Given the description of an element on the screen output the (x, y) to click on. 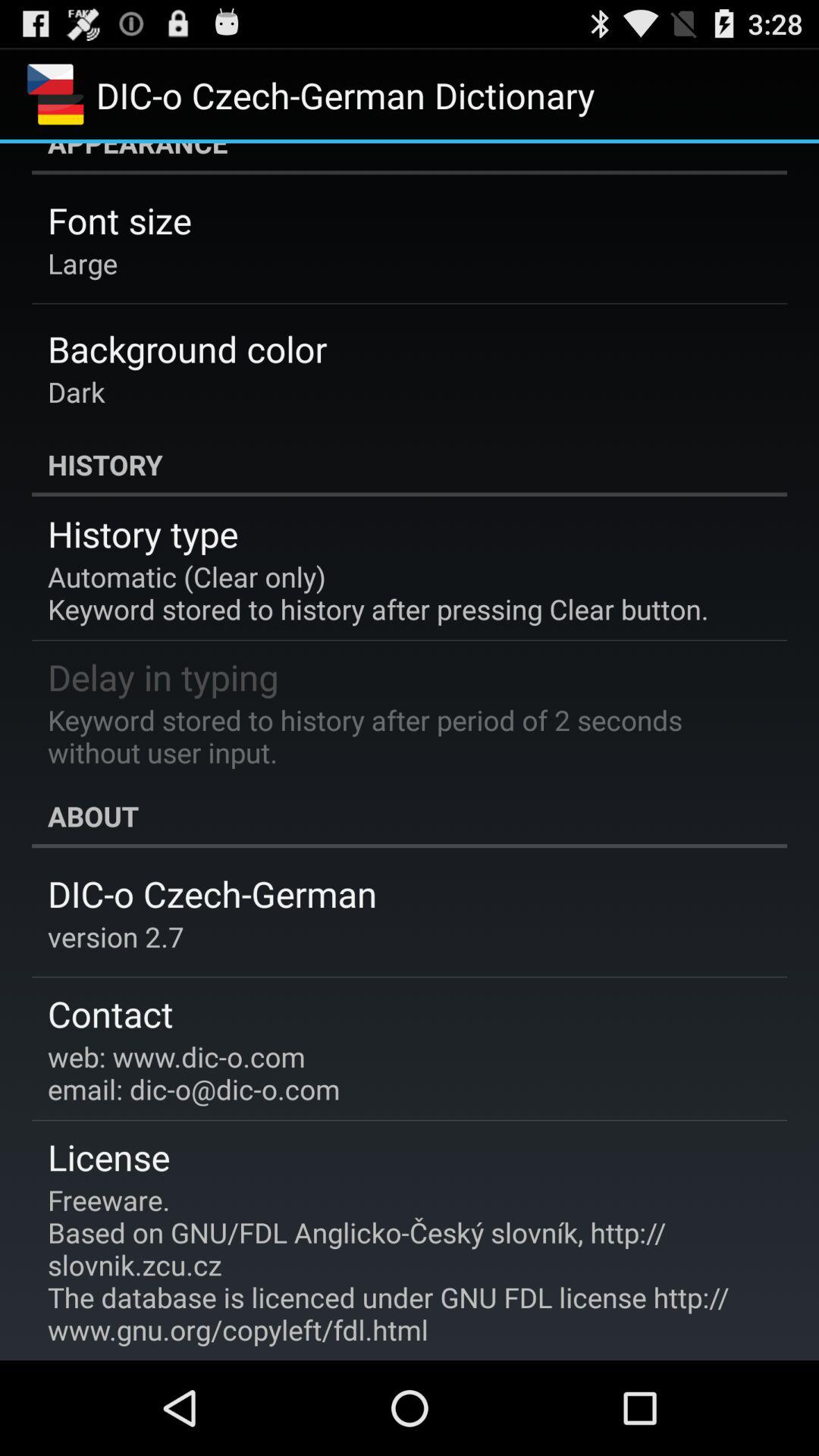
turn on icon above the web www dic item (110, 1013)
